Given the description of an element on the screen output the (x, y) to click on. 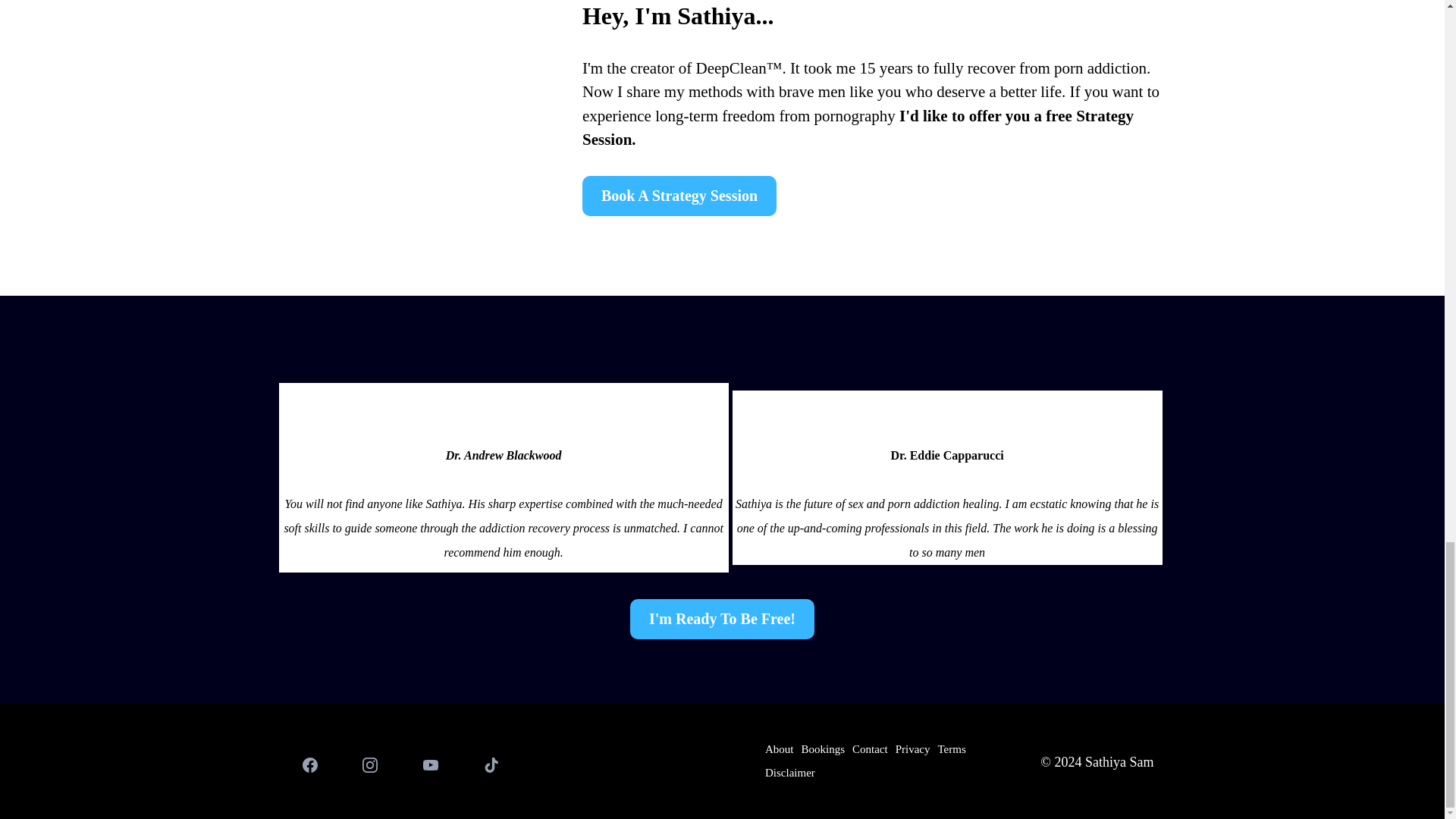
About (779, 749)
Privacy (912, 749)
Terms (951, 749)
Book A Strategy Session (679, 196)
I'm Ready To Be Free! (721, 618)
Bookings (822, 749)
Disclaimer (789, 772)
Contact (869, 749)
